Given the description of an element on the screen output the (x, y) to click on. 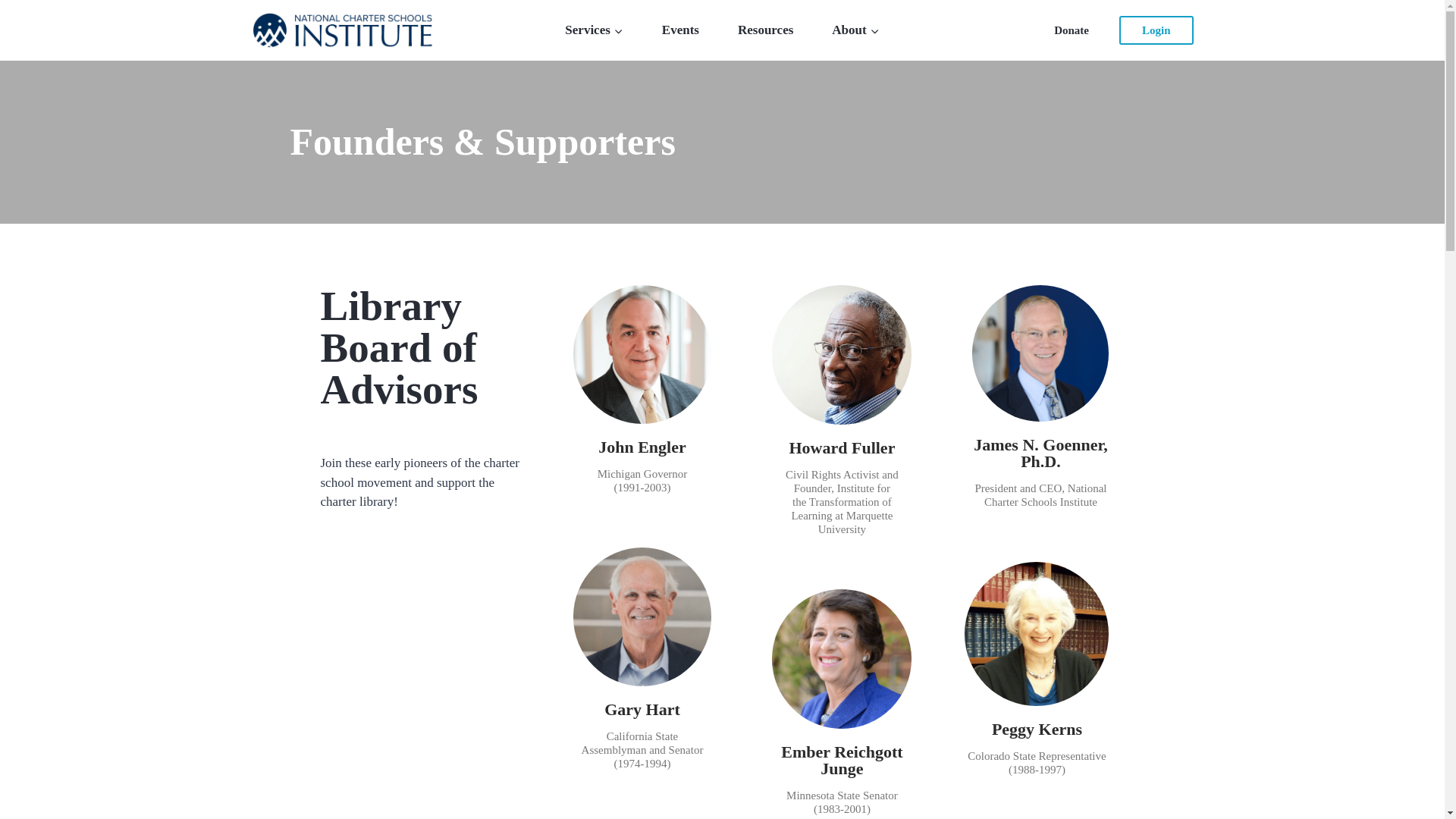
Screen Shot 2019-07-12 at 2.20.28 PM (642, 354)
About (855, 30)
Resources (764, 30)
Screen Shot 2019-07-12 at 2.20.46 PM (841, 658)
Services (594, 30)
Screen Shot 2019-07-12 at 2.24.22 PM (1035, 633)
Events (679, 30)
Screen Shot 2019-07-12 at 2.30.14 PM (1040, 353)
Screen Shot 2019-07-12 at 2.32.40 PM (841, 355)
Screen Shot 2019-07-12 at 2.23.26 PM (642, 616)
